Given the description of an element on the screen output the (x, y) to click on. 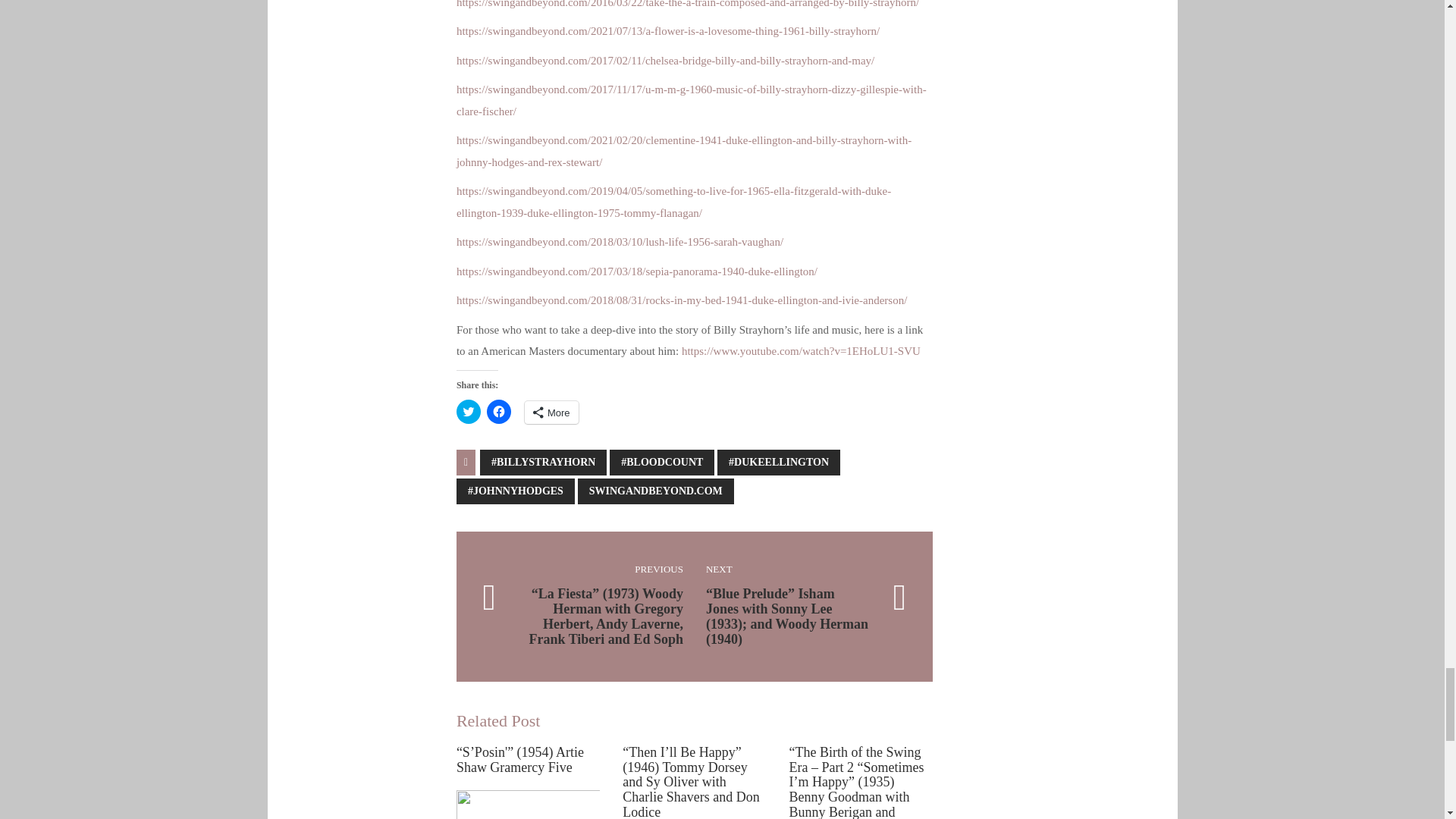
SWINGANDBEYOND.COM (655, 491)
Click to share on Twitter (468, 411)
More (551, 412)
Click to share on Facebook (498, 411)
